Given the description of an element on the screen output the (x, y) to click on. 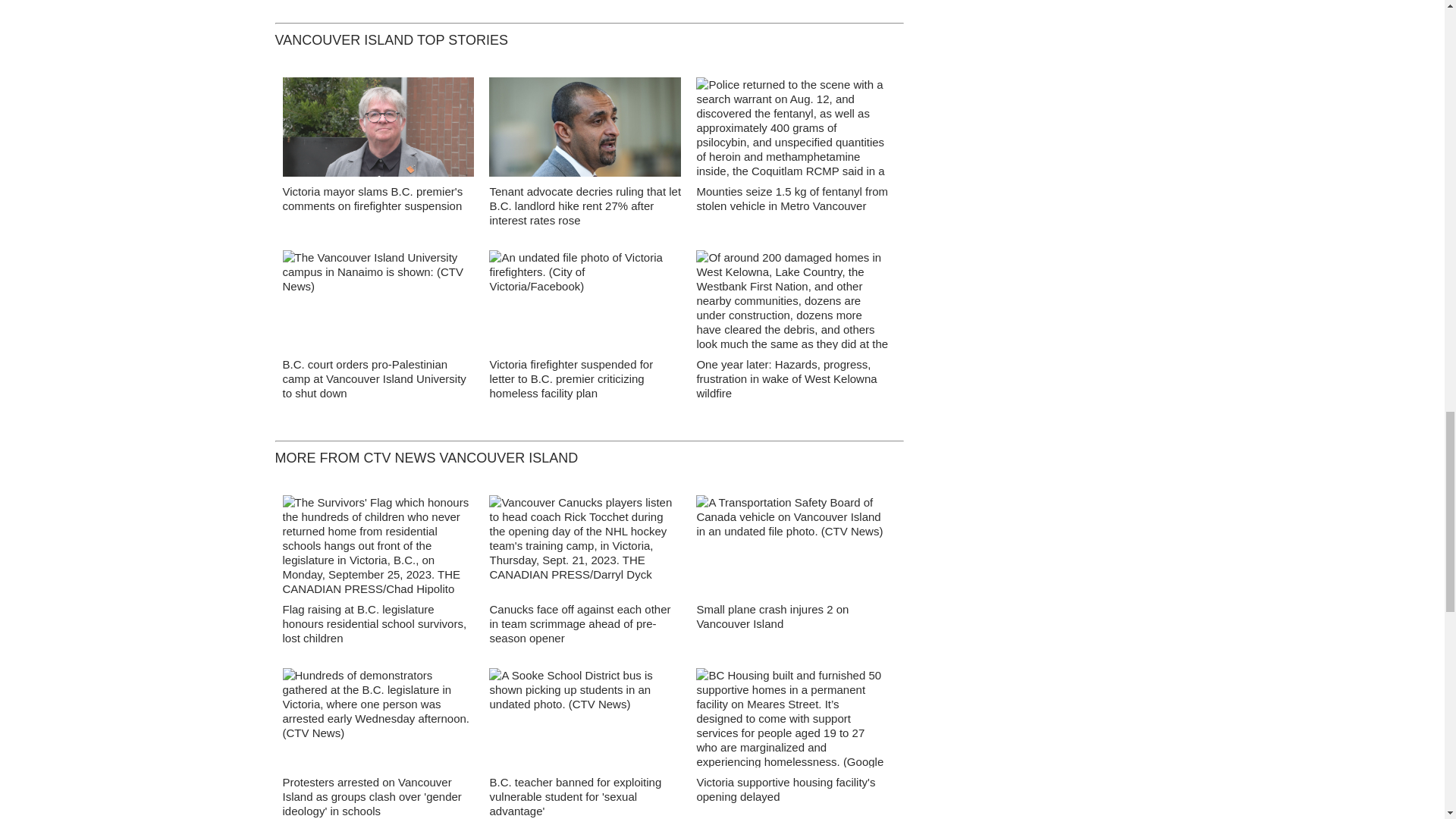
Vancouver Island University  (378, 303)
McDougall Creek wildfire rebuilding (791, 303)
Coquitlam fentanyl seizure (791, 130)
Victoria Mayor Marianne Alto (378, 130)
Ravi Kahlon (585, 130)
victoria fire department (585, 304)
